Given the description of an element on the screen output the (x, y) to click on. 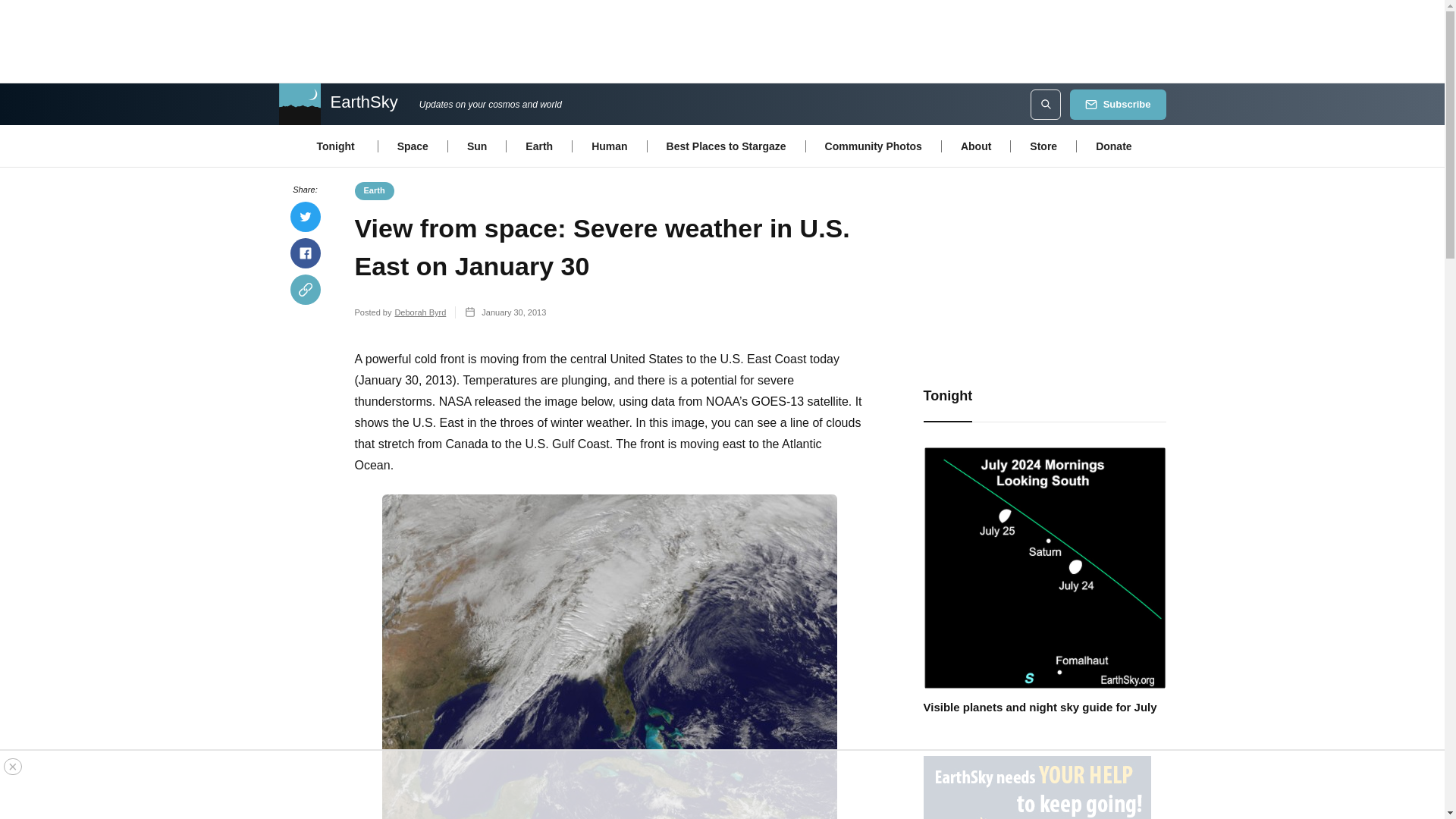
Best Places to Stargaze (725, 145)
Earth (538, 145)
Subscribe (1118, 104)
Sun (476, 145)
EarthSky (337, 104)
Space (413, 145)
